Given the description of an element on the screen output the (x, y) to click on. 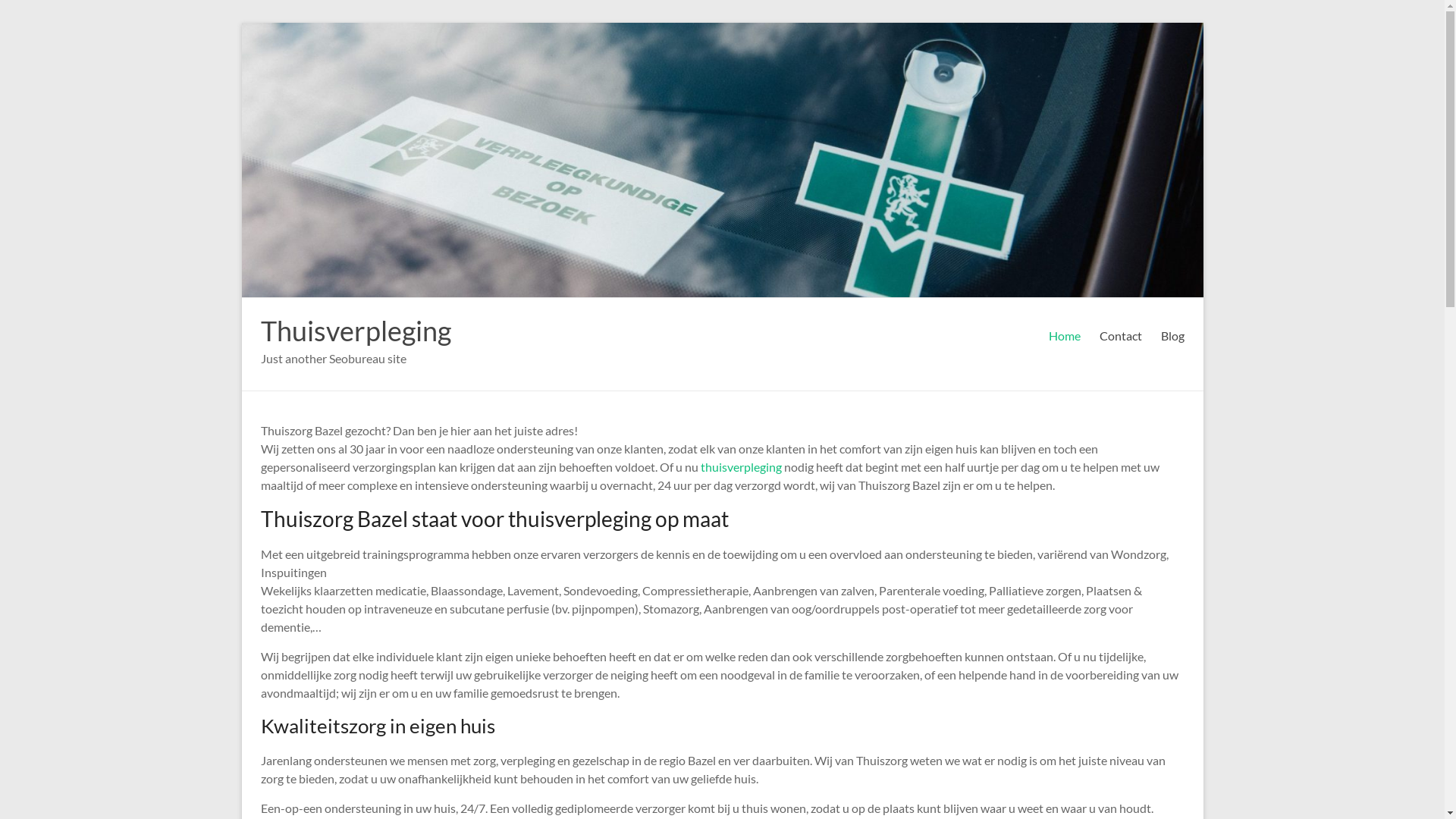
Contact Element type: text (1120, 335)
Ga naar inhoud Element type: text (241, 21)
thuisverpleging Element type: text (740, 466)
Home Element type: text (1063, 335)
Blog Element type: text (1171, 335)
Thuisverpleging Element type: text (355, 330)
